Given the description of an element on the screen output the (x, y) to click on. 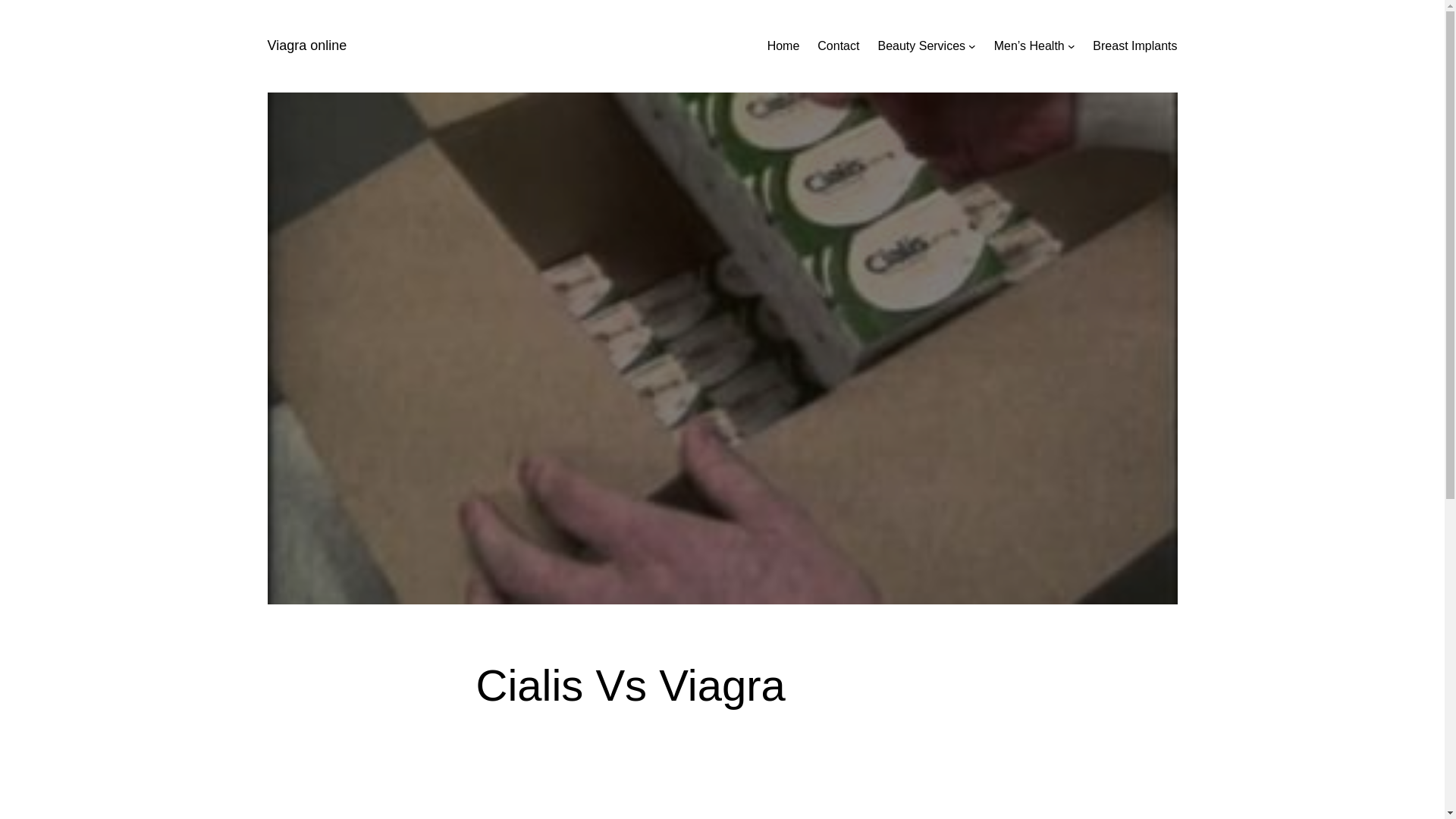
Contact Element type: text (838, 46)
Breast Implants Element type: text (1134, 46)
Beauty Services Element type: text (921, 46)
Home Element type: text (783, 46)
Viagra online Element type: text (306, 45)
